Given the description of an element on the screen output the (x, y) to click on. 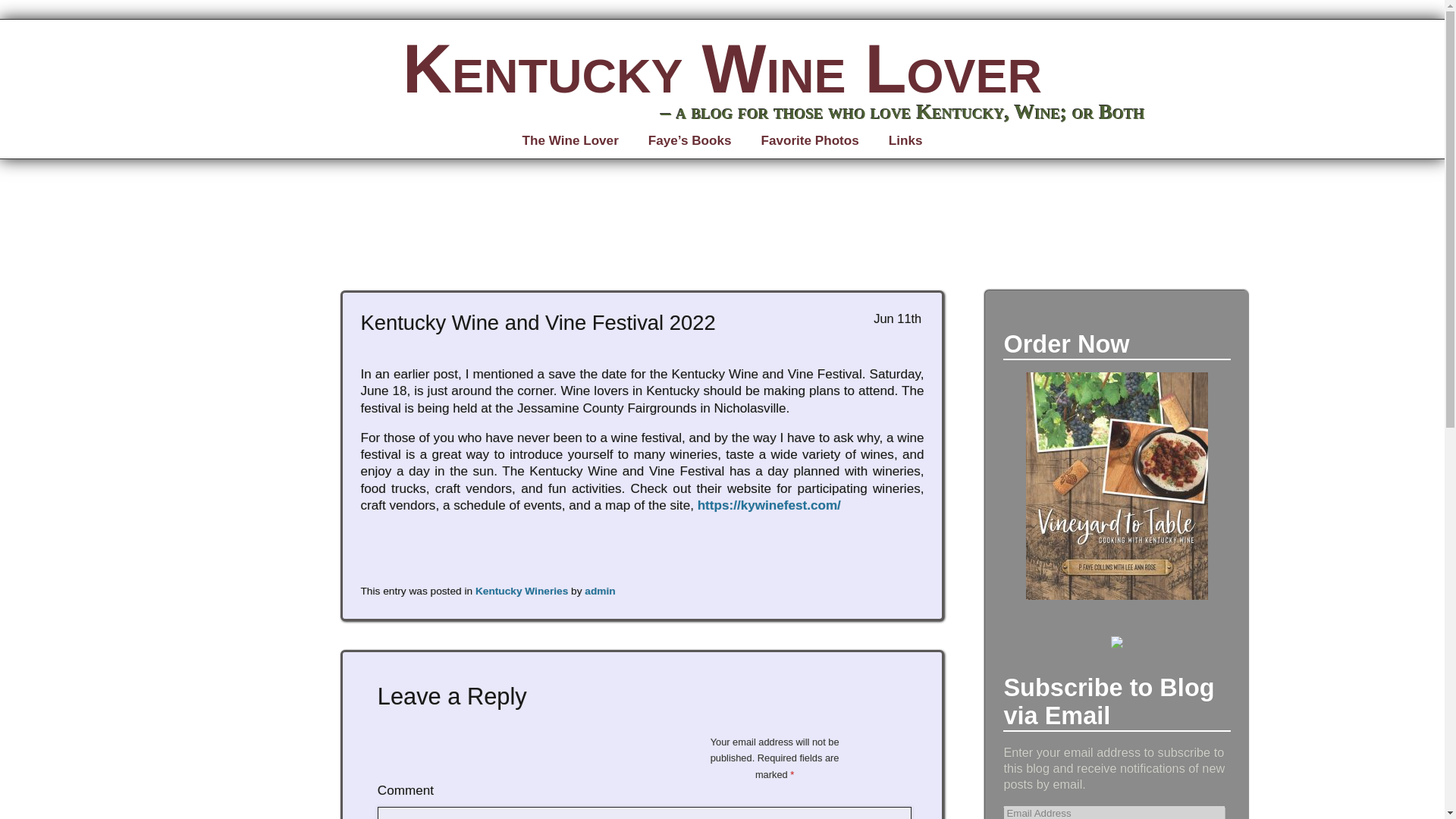
Posts by admin (599, 591)
Favorite Photos (809, 140)
The Wine Lover (570, 140)
Links (905, 140)
Kentucky Wineries (521, 591)
admin (599, 591)
Kentucky Wine Lover (722, 69)
